Given the description of an element on the screen output the (x, y) to click on. 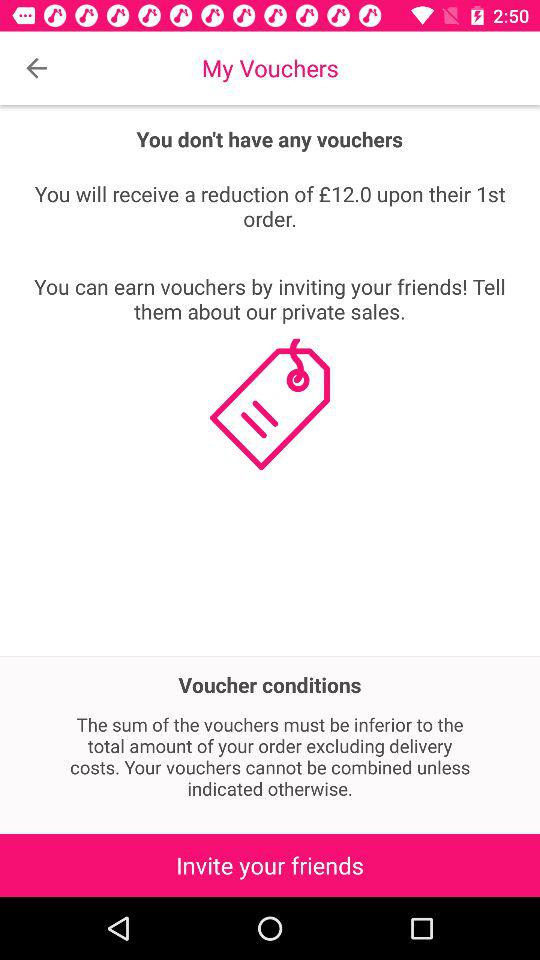
open the item next to my vouchers icon (36, 68)
